Given the description of an element on the screen output the (x, y) to click on. 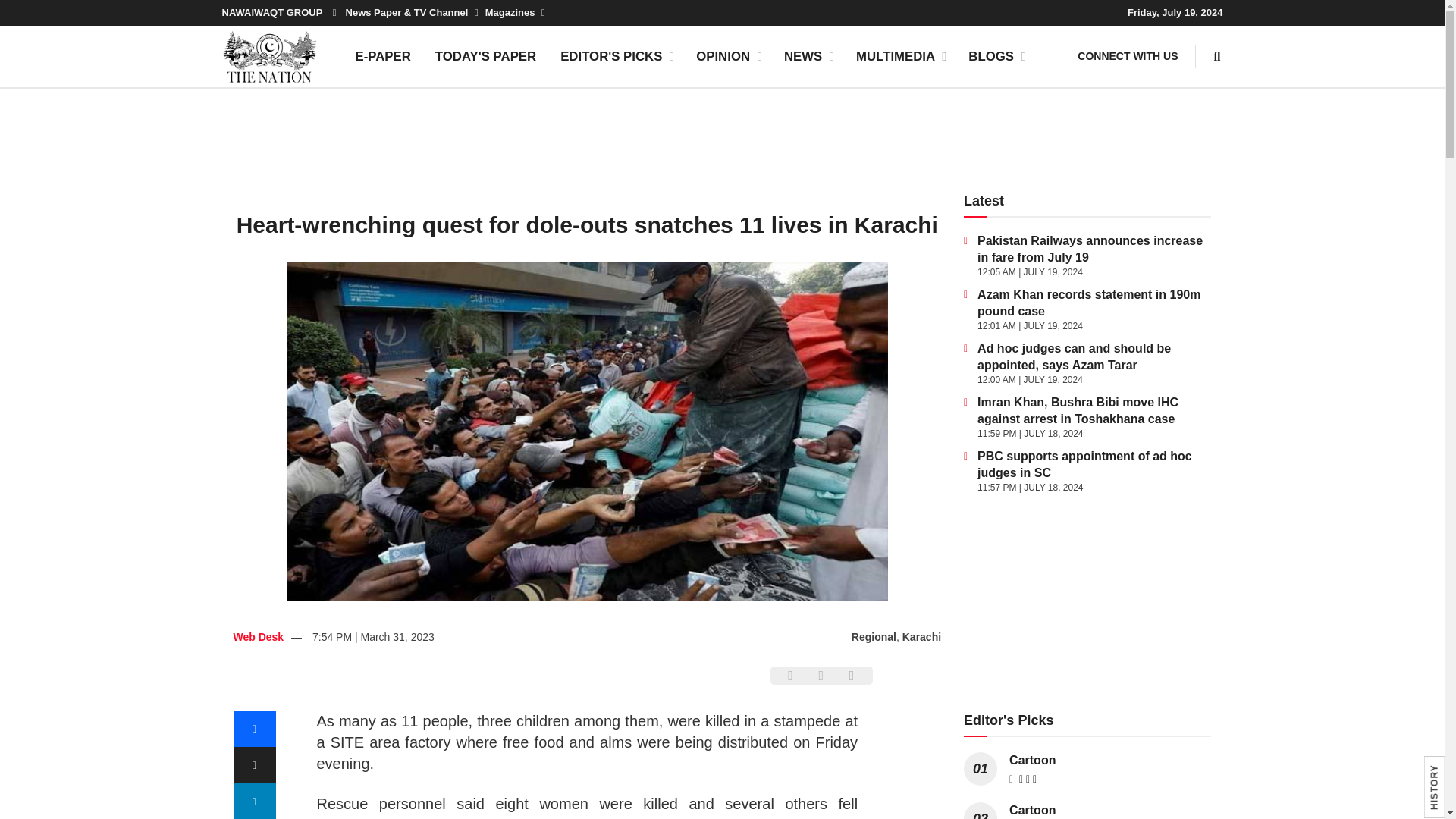
BLOGS (995, 55)
NEWS (807, 55)
E-PAPER (382, 55)
MULTIMEDIA (900, 55)
Magazines (513, 12)
TODAY'S PAPER (485, 55)
EDITOR'S PICKS (616, 55)
OPINION (727, 55)
